Given the description of an element on the screen output the (x, y) to click on. 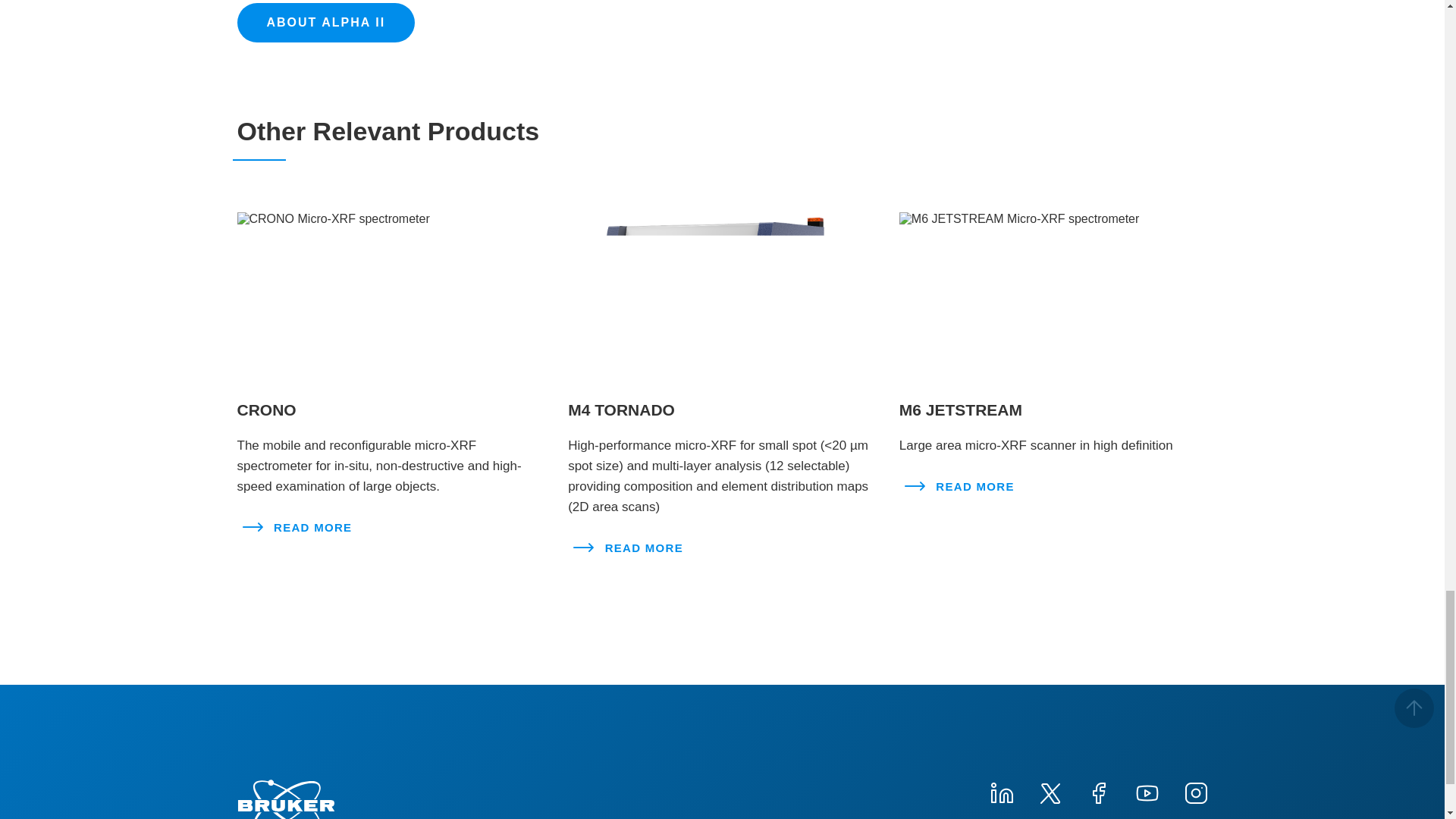
instagram (1194, 791)
youtube (1146, 791)
ABOUT ALPHA II (324, 22)
linkedin (1000, 791)
twitter (1048, 791)
facebook (1097, 791)
